Given the description of an element on the screen output the (x, y) to click on. 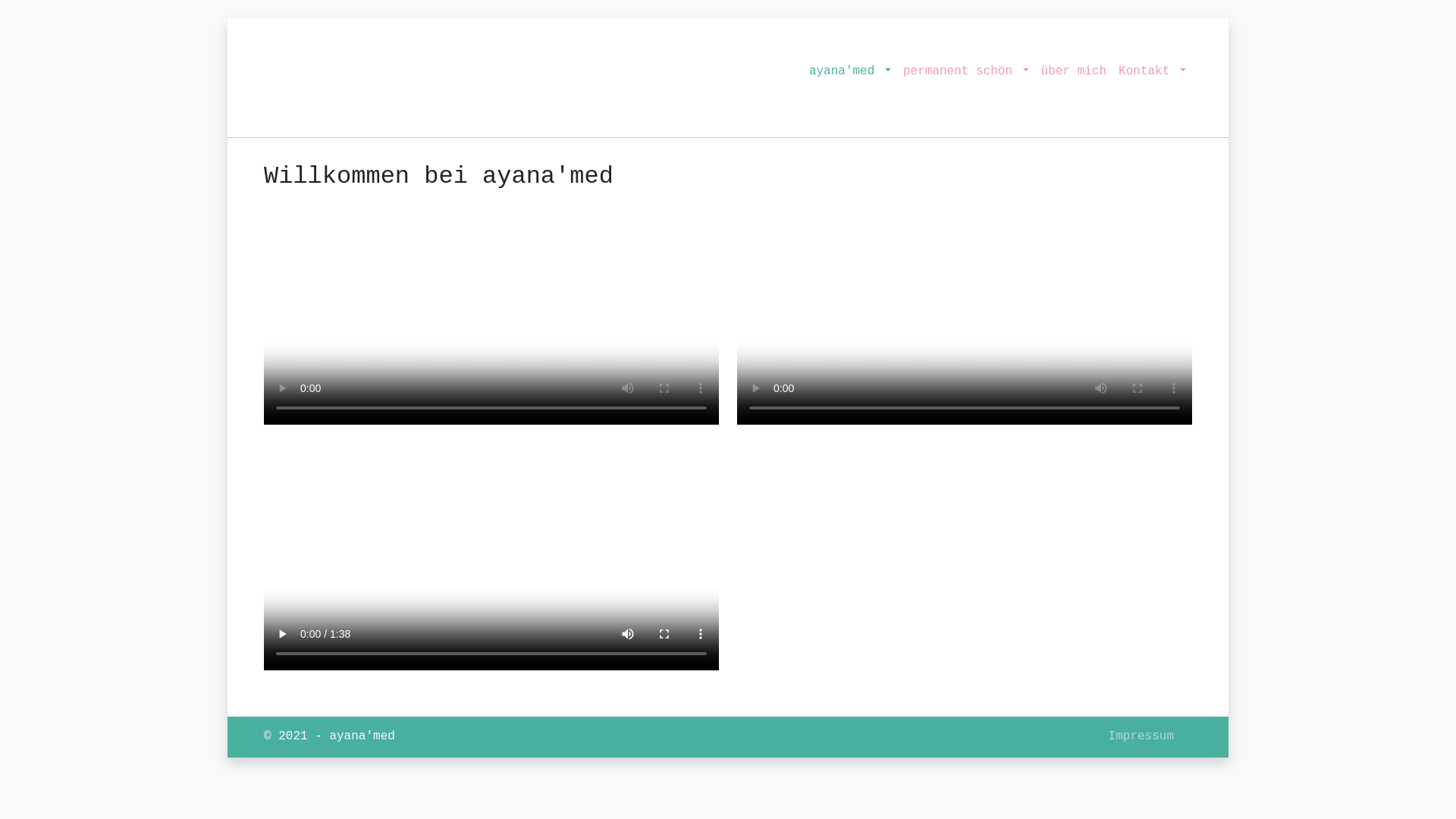
ayana'med Element type: text (850, 71)
Kontakt Element type: text (1152, 71)
Impressum Element type: text (1140, 736)
